Given the description of an element on the screen output the (x, y) to click on. 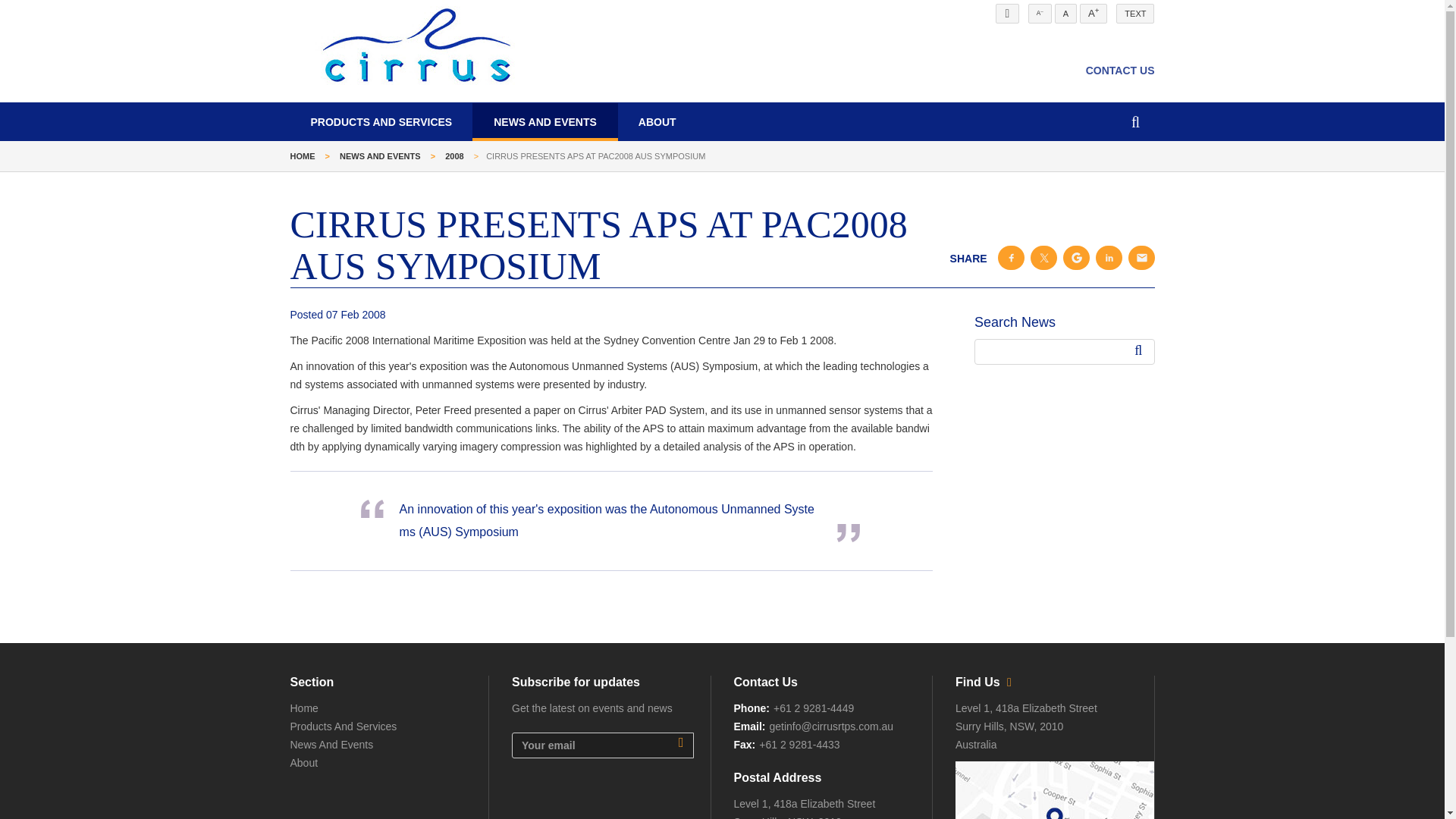
ABOUT (657, 121)
A (1065, 13)
CONTACT US (1120, 70)
Reset text size (1065, 13)
TEXT (1135, 13)
Cirrus (413, 47)
PRODUCTS AND SERVICES (381, 121)
Smaller text (1039, 13)
Larger text (1094, 13)
Direction (986, 681)
